Given the description of an element on the screen output the (x, y) to click on. 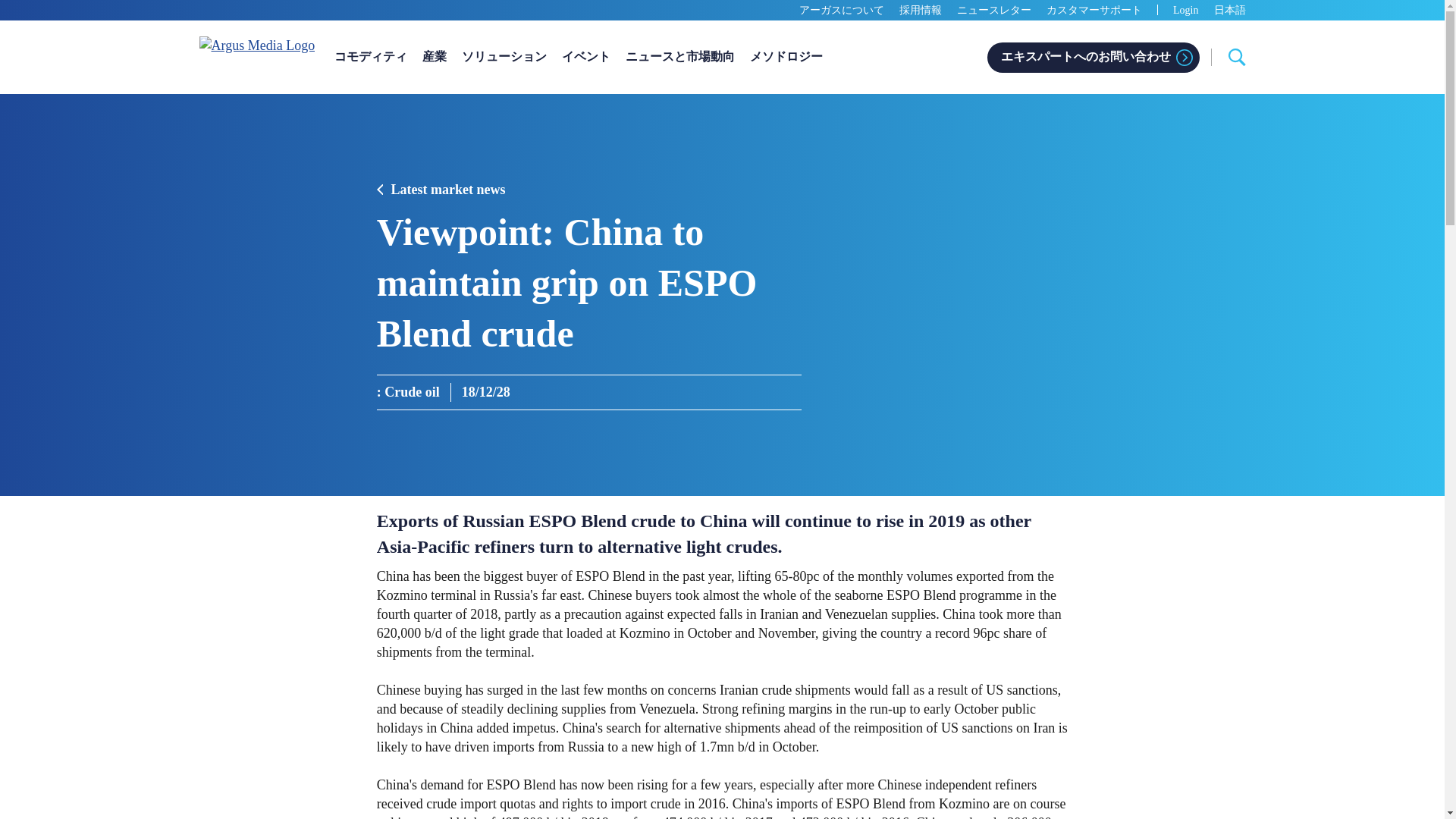
Login (1185, 10)
